Given the description of an element on the screen output the (x, y) to click on. 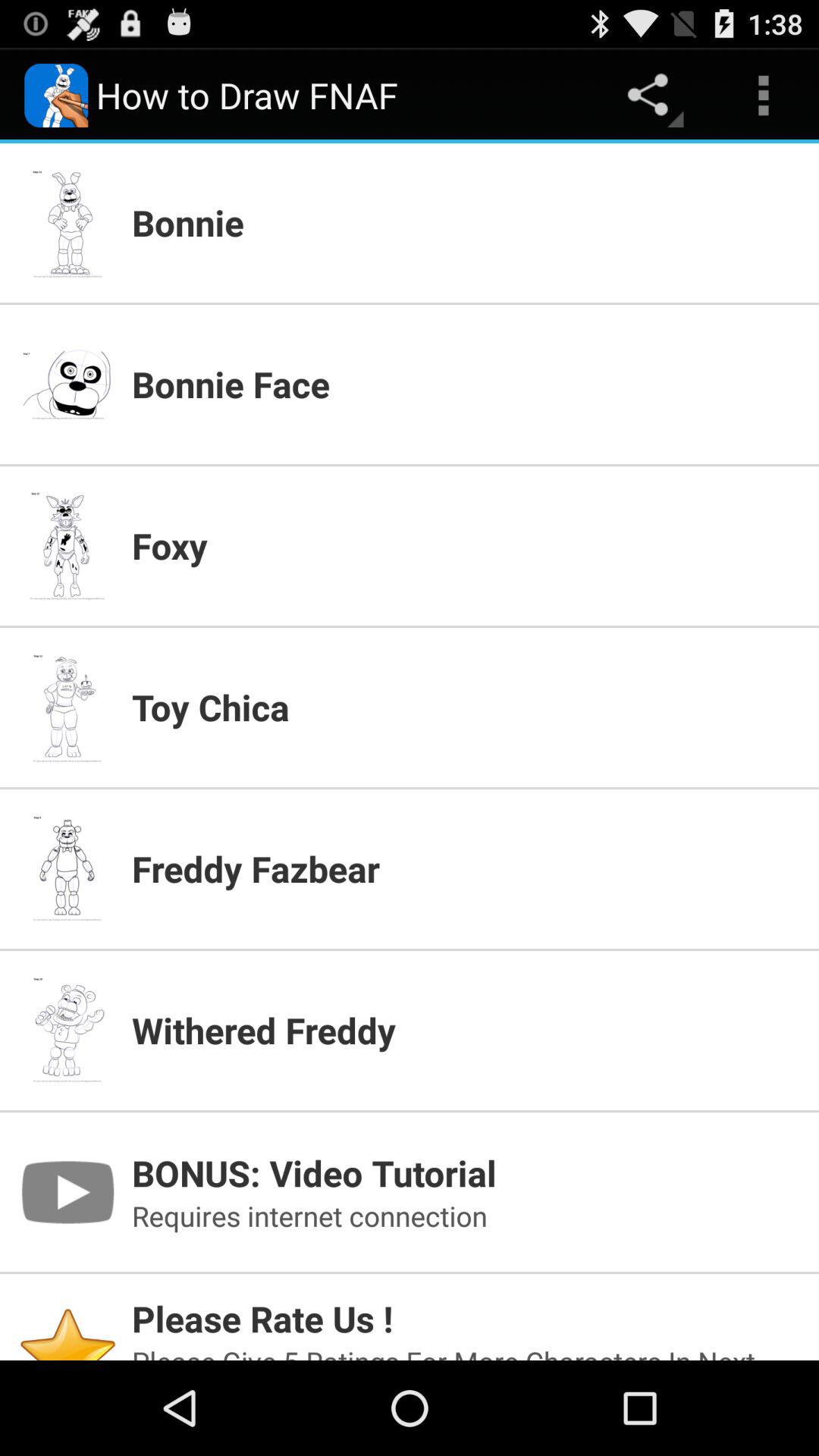
flip until requires internet connection (465, 1215)
